Given the description of an element on the screen output the (x, y) to click on. 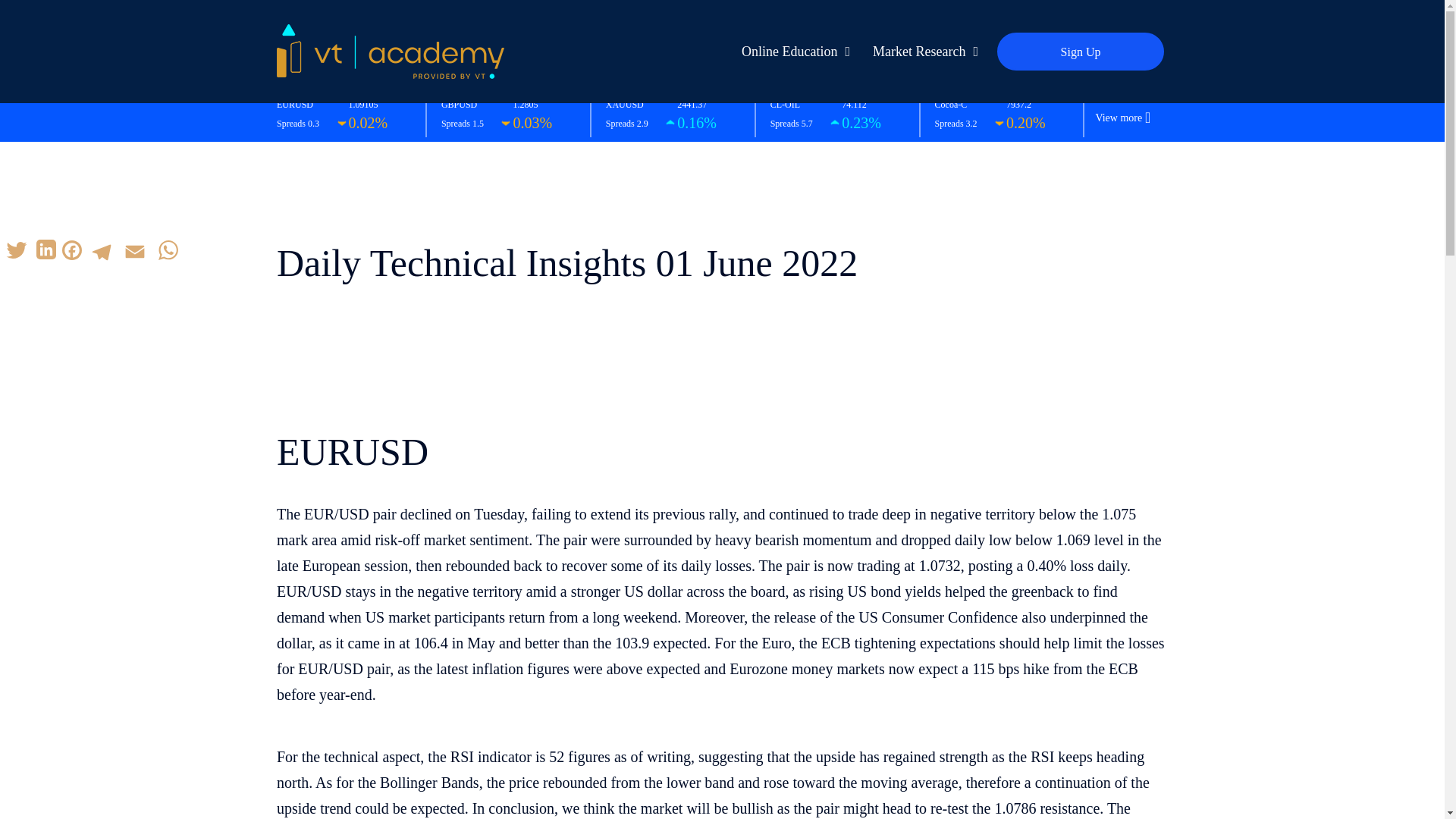
Email (134, 251)
Telegram (100, 251)
VT Academy (389, 49)
Market Research (921, 51)
View more (1117, 117)
Twitter (16, 251)
Online Education (791, 51)
WhatsApp (167, 251)
Sign Up (1080, 51)
Twitter (16, 251)
